Given the description of an element on the screen output the (x, y) to click on. 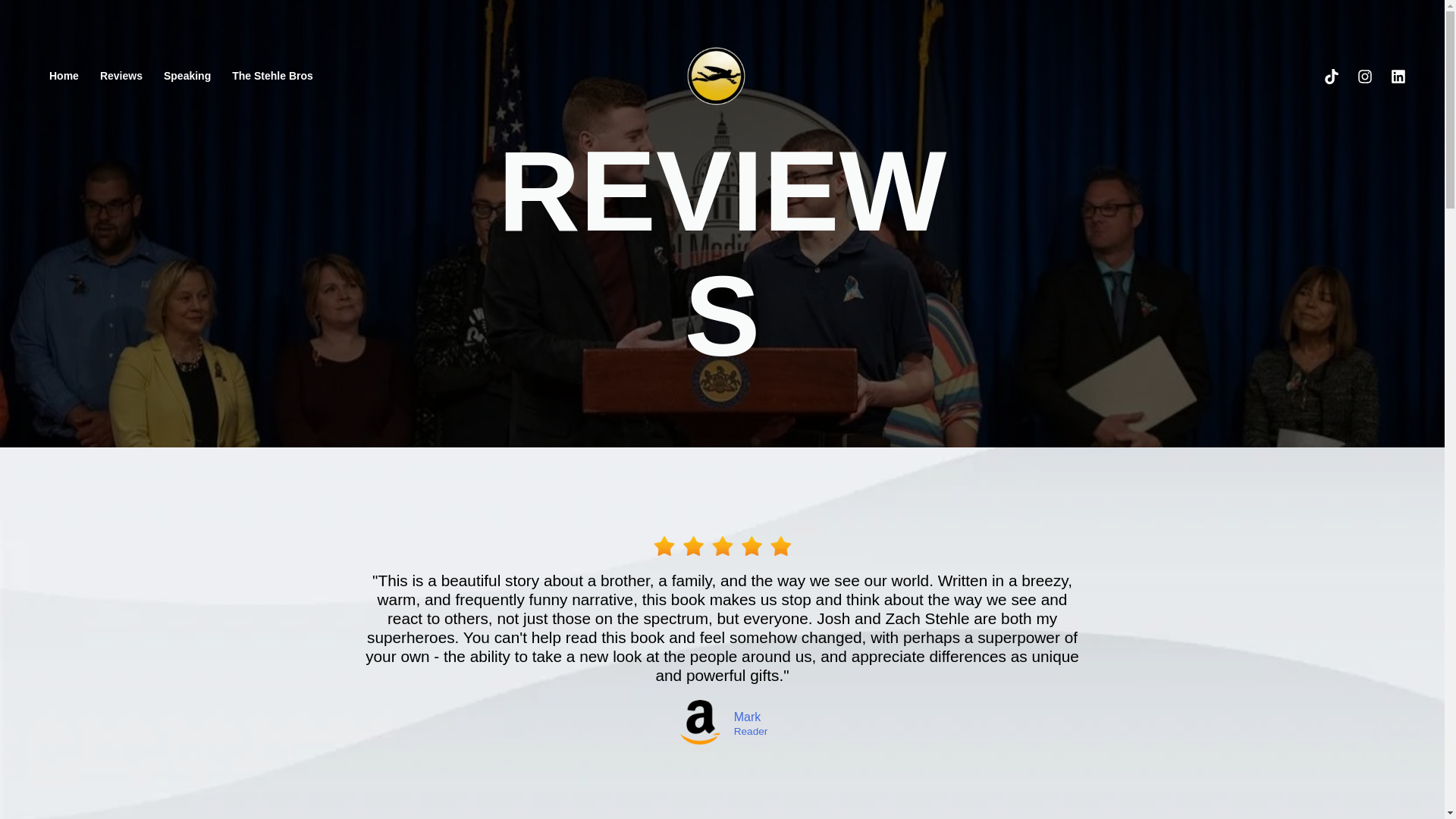
Mark (521, 717)
Reader (535, 731)
Home (63, 75)
Reviews (120, 75)
The Stehle Bros (272, 75)
Speaking (186, 75)
